Given the description of an element on the screen output the (x, y) to click on. 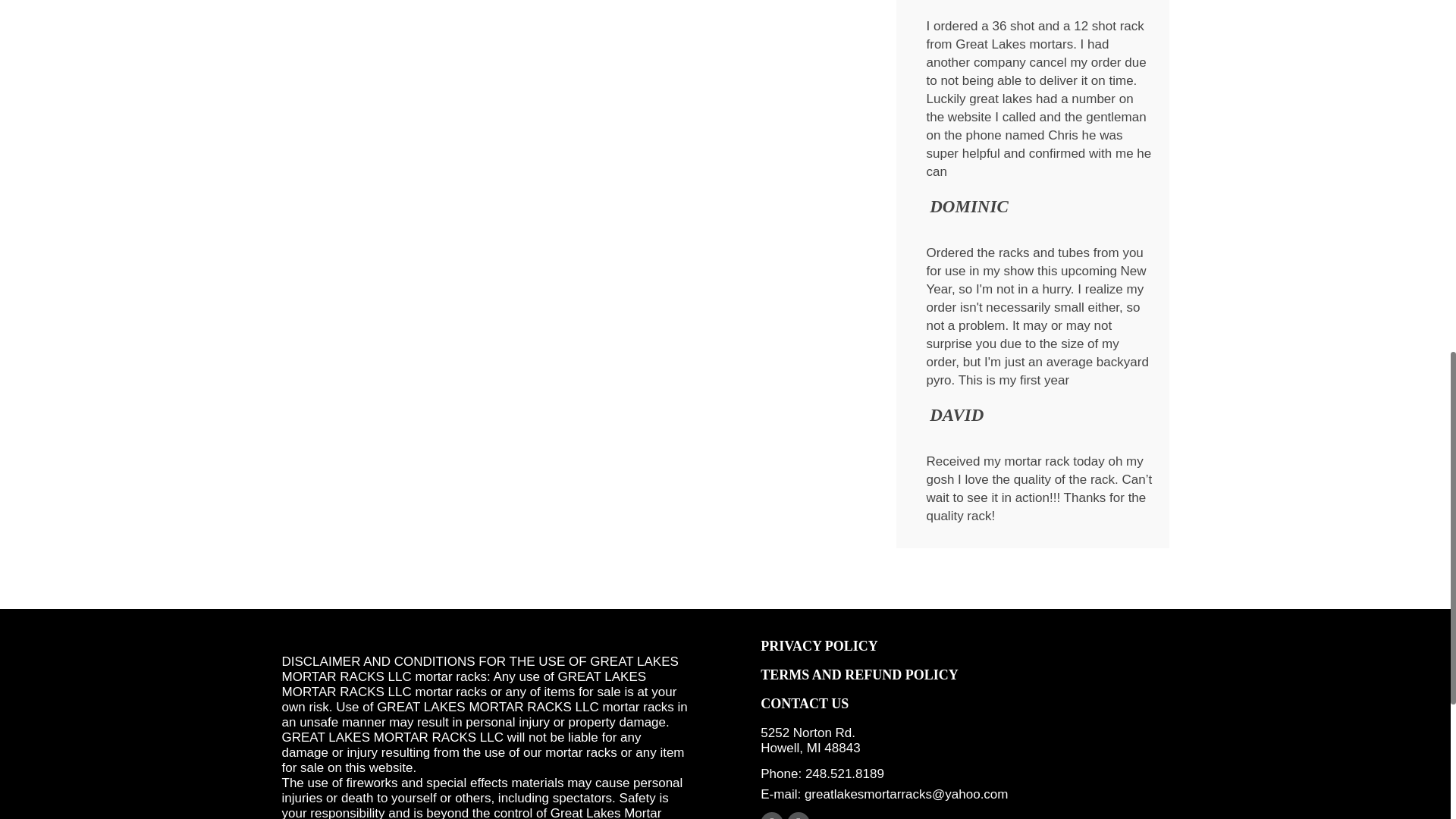
youtube (798, 815)
DOMINIC (969, 210)
TERMS AND REFUND POLICY (859, 674)
DAVID (957, 419)
facebook (771, 815)
PRIVACY POLICY (818, 645)
